Given the description of an element on the screen output the (x, y) to click on. 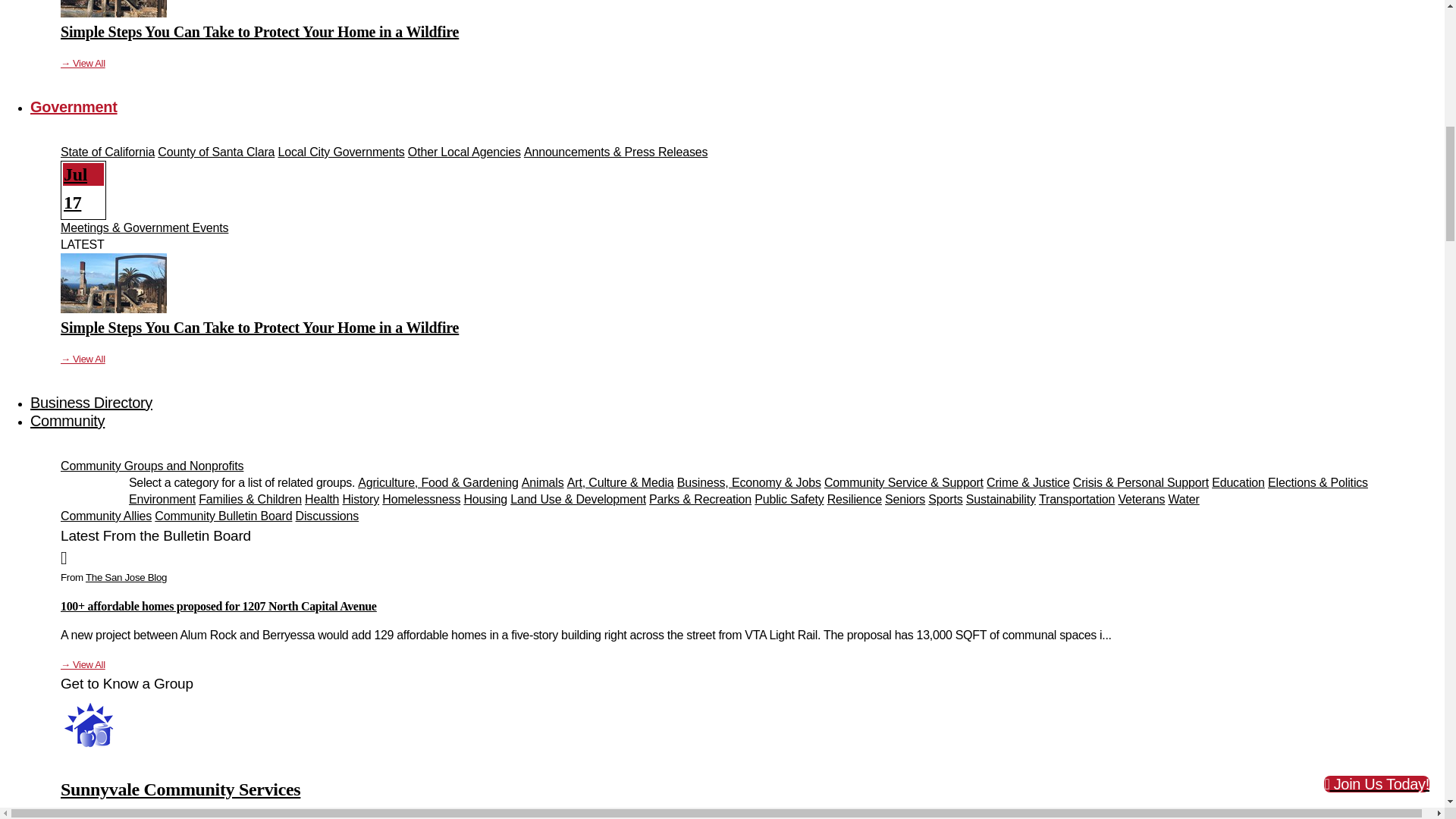
List local news items by topic. (152, 465)
California Local Good Business Directory (91, 402)
